Given the description of an element on the screen output the (x, y) to click on. 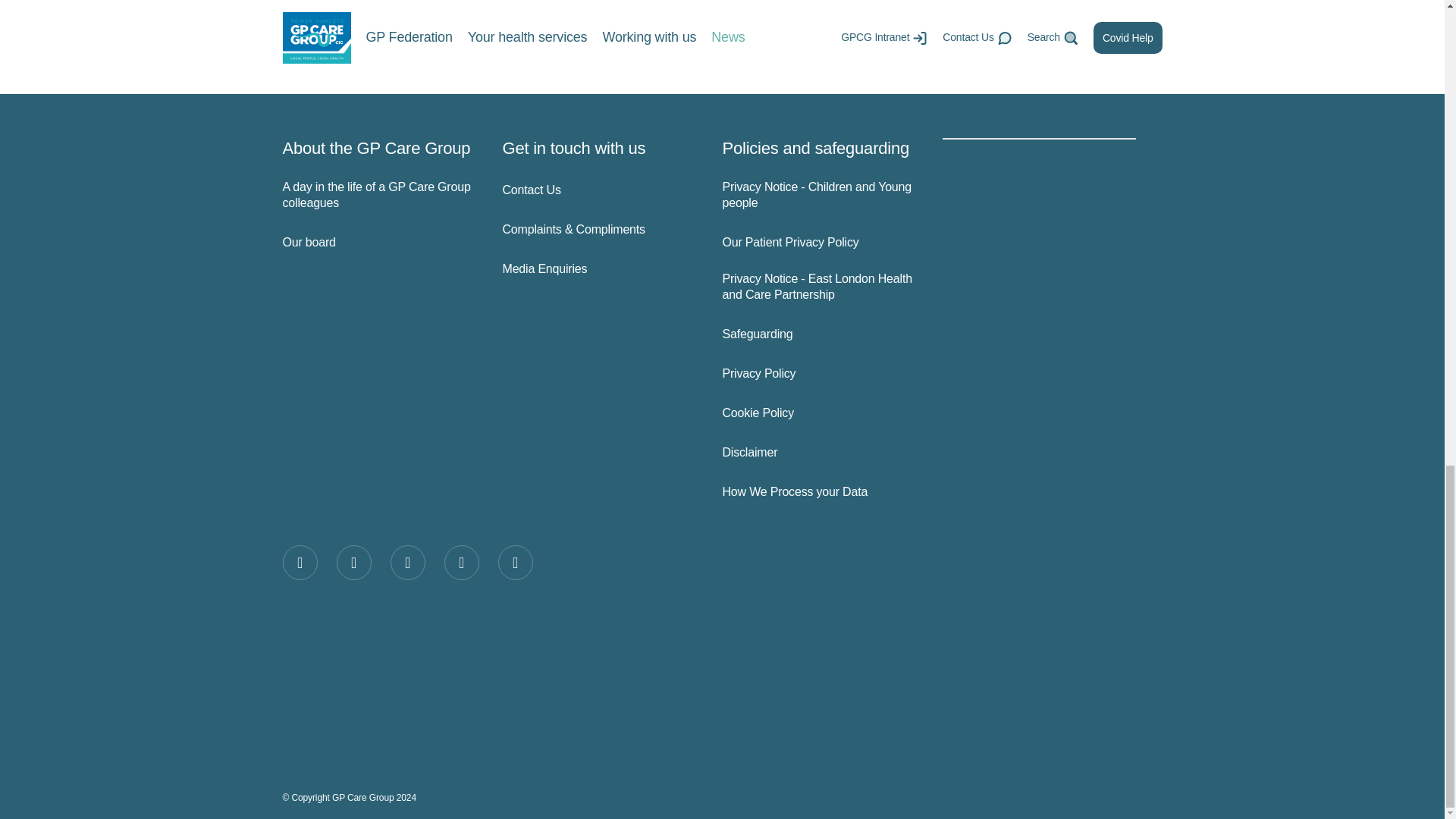
Twitter (353, 562)
Contact Us (598, 190)
Our Patient Privacy Policy (818, 242)
Disclaimer (818, 453)
LinkedIn (461, 562)
Twitter (353, 562)
Privacy Notice - East London Health and Care Partnership (818, 287)
Facebook (299, 562)
Cookie Policy (818, 413)
Youtube (514, 562)
Privacy Policy (818, 374)
Our board (379, 242)
Youtube (514, 562)
A day in the life of a GP Care Group colleagues (379, 195)
Instagram (407, 562)
